Given the description of an element on the screen output the (x, y) to click on. 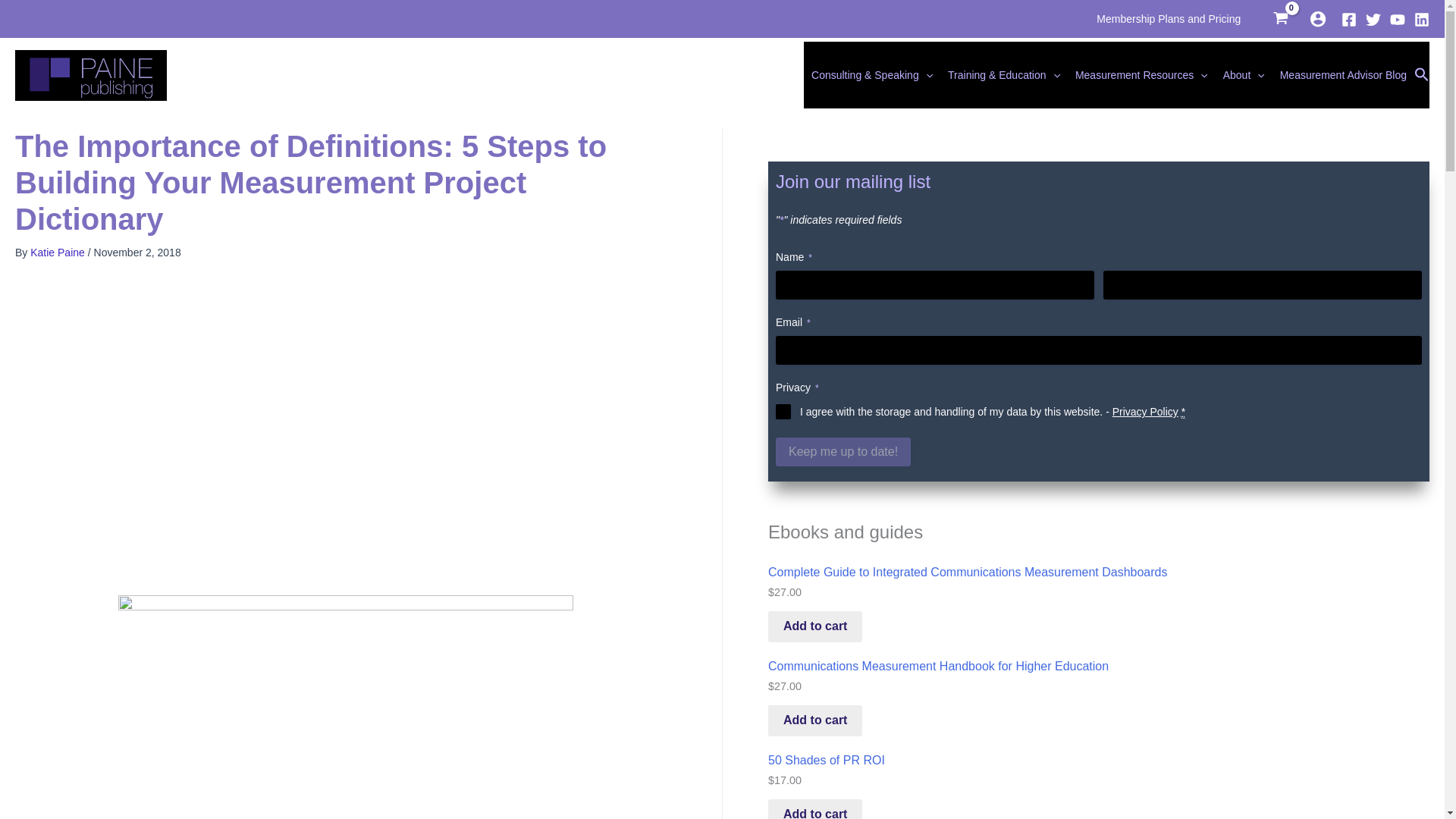
Keep me up to date! (843, 451)
Measurement Advisor Blog (1342, 74)
Measurement Resources (1141, 74)
View all posts by Katie Paine (58, 252)
About (1243, 74)
You need to accept this checkbox. (1182, 411)
Membership Plans and Pricing (1168, 18)
